Given the description of an element on the screen output the (x, y) to click on. 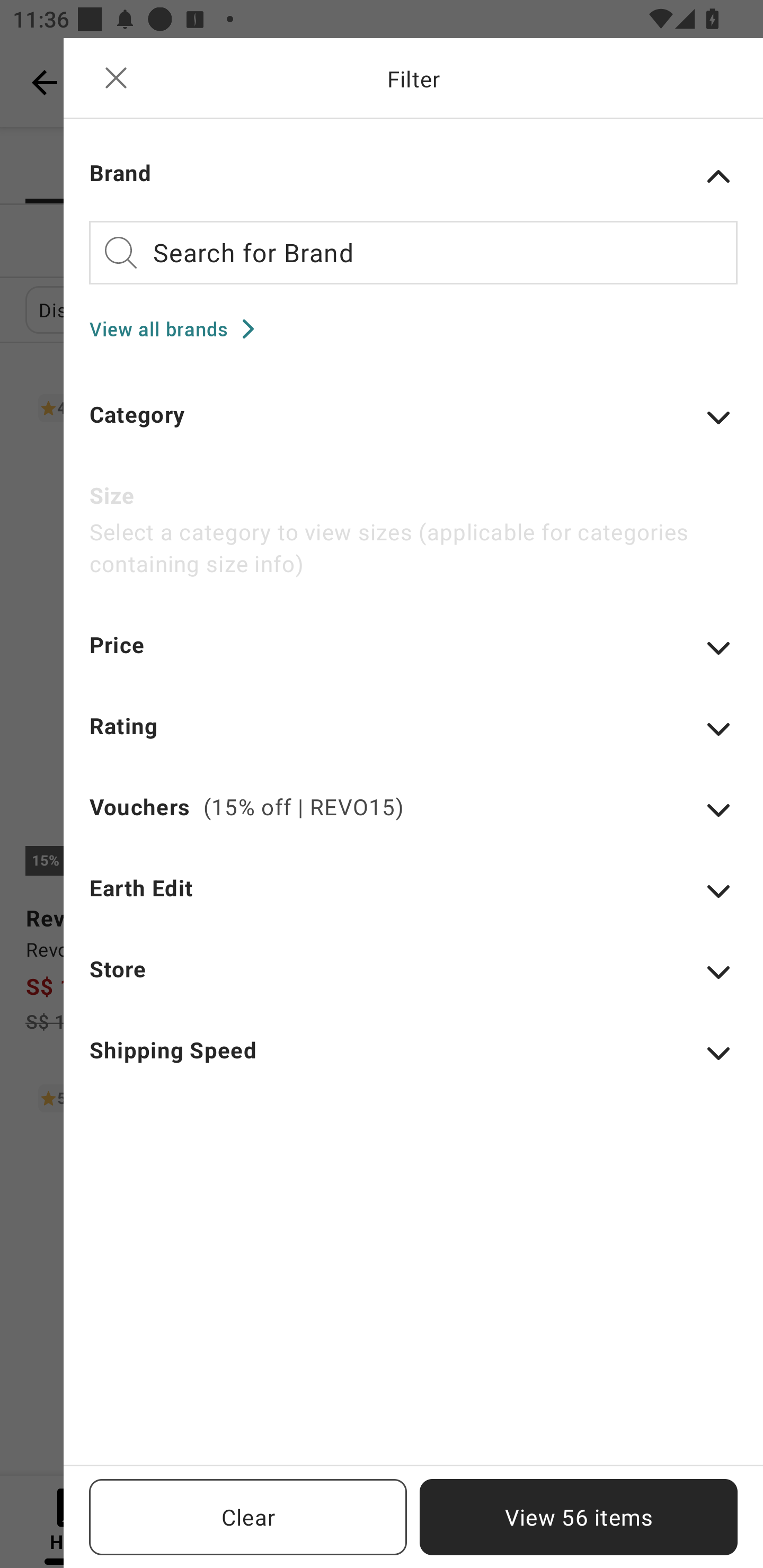
Brand (413, 176)
Search for Brand (413, 252)
View all brands (177, 328)
Category (413, 426)
Price (413, 656)
Rating (413, 738)
Vouchers (15% off | REVO15) (413, 818)
Earth Edit (413, 899)
Store (413, 981)
Shipping Speed (413, 1061)
Clear (247, 1516)
View 56 items (578, 1516)
